Given the description of an element on the screen output the (x, y) to click on. 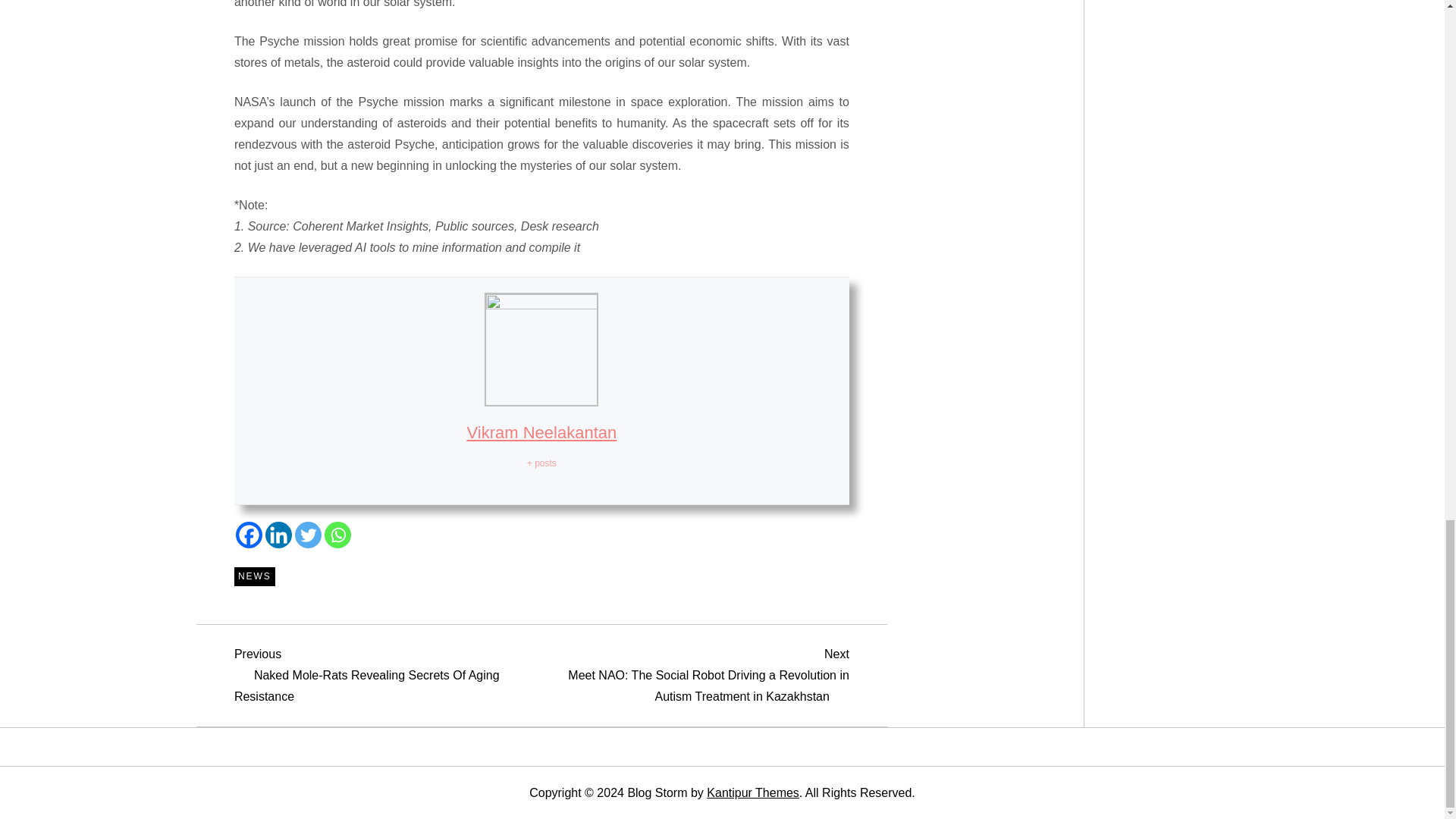
Linkedin (278, 534)
Kantipur Themes (752, 792)
NEWS (254, 577)
Twitter (308, 534)
Facebook (248, 534)
Whatsapp (337, 534)
Vikram Neelakantan (542, 432)
